Given the description of an element on the screen output the (x, y) to click on. 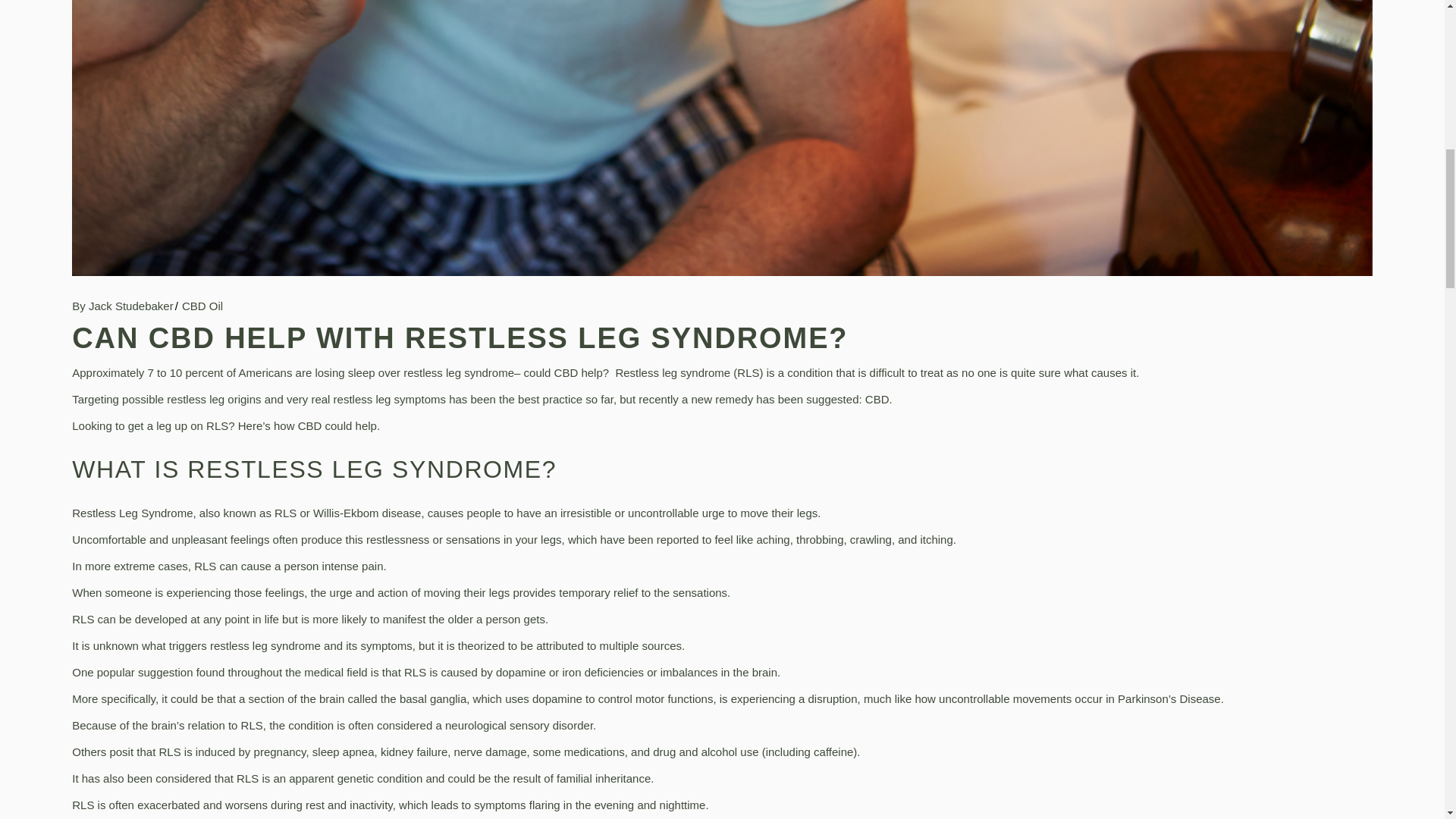
CBD Oil (202, 305)
developed (161, 618)
rest and inactivity (349, 804)
some medications (578, 751)
genetic condition (380, 778)
By Jack Studebaker (122, 305)
imbalances (689, 671)
dopamine or iron (538, 671)
basal ganglia (431, 698)
Restless Leg Syndrome (131, 512)
